Given the description of an element on the screen output the (x, y) to click on. 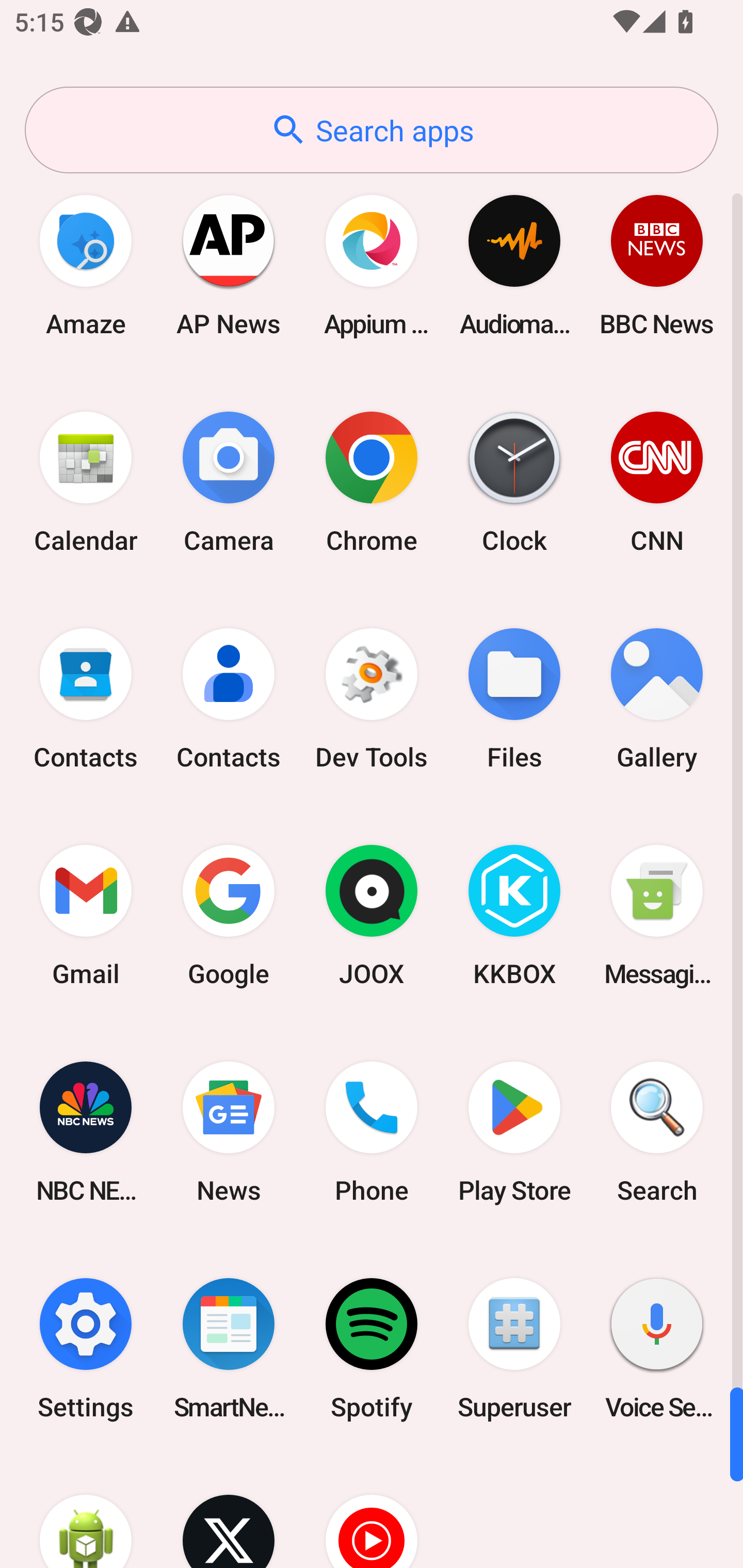
  Search apps (371, 130)
Amaze (85, 264)
AP News (228, 264)
Appium Settings (371, 264)
Audio­mack (514, 264)
BBC News (656, 264)
Calendar (85, 482)
Camera (228, 482)
Chrome (371, 482)
Clock (514, 482)
CNN (656, 482)
Contacts (85, 699)
Contacts (228, 699)
Dev Tools (371, 699)
Files (514, 699)
Gallery (656, 699)
Gmail (85, 915)
Google (228, 915)
JOOX (371, 915)
KKBOX (514, 915)
Messaging (656, 915)
NBC NEWS (85, 1131)
News (228, 1131)
Phone (371, 1131)
Play Store (514, 1131)
Search (656, 1131)
Settings (85, 1348)
SmartNews (228, 1348)
Spotify (371, 1348)
Superuser (514, 1348)
Voice Search (656, 1348)
WebView Browser Tester (85, 1512)
X (228, 1512)
YT Music (371, 1512)
